Given the description of an element on the screen output the (x, y) to click on. 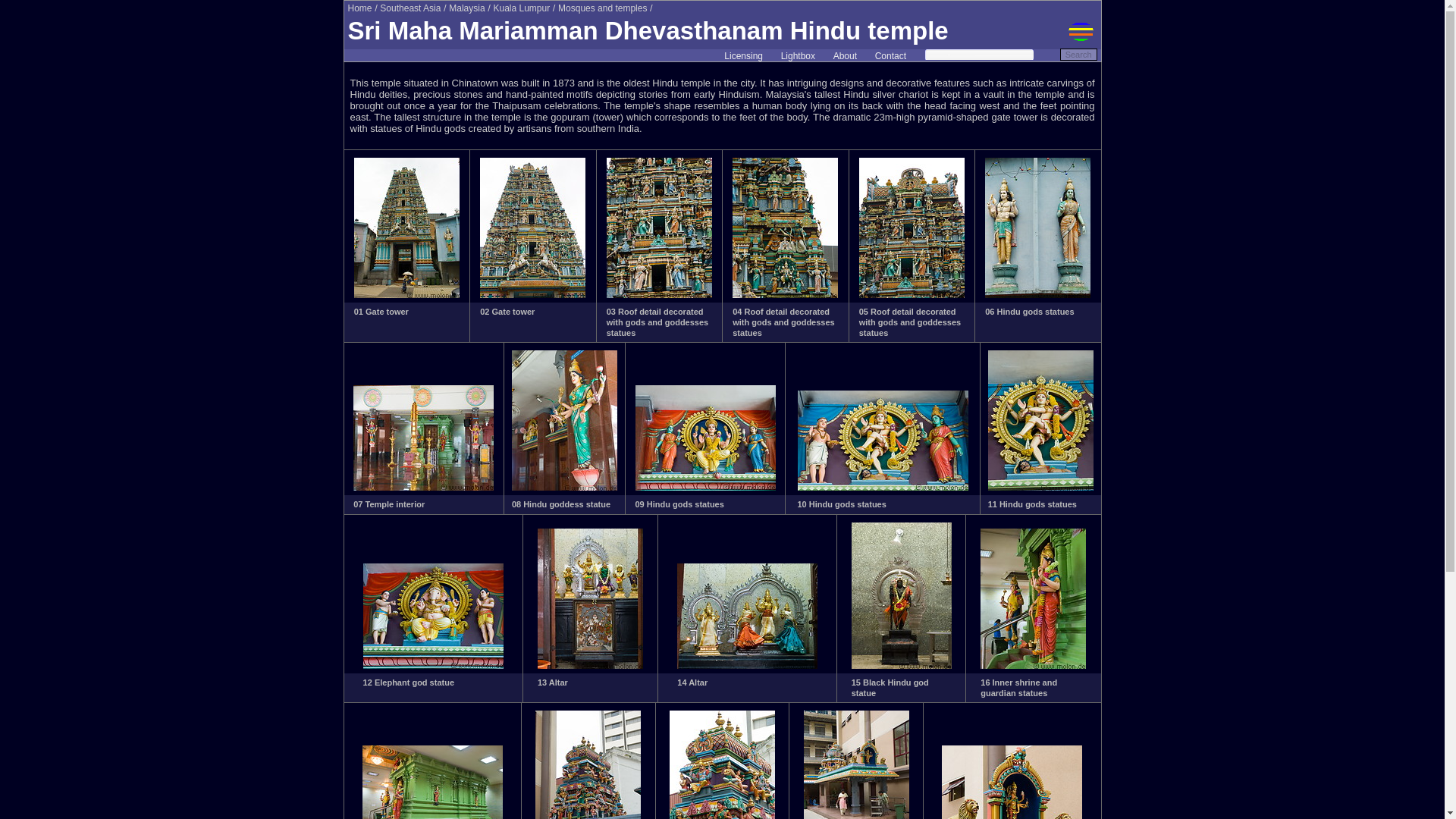
Image MA25049 - click to enlarge (532, 294)
Information on how to license images (743, 55)
Contact (890, 55)
Image MA25052 - click to enlarge (911, 294)
Mosques and temples (601, 8)
Image MA25054 - click to enlarge (423, 487)
About (844, 55)
Southeast Asia (410, 8)
10 Hindu gods statues (841, 503)
Kuala Lumpur (521, 8)
